Given the description of an element on the screen output the (x, y) to click on. 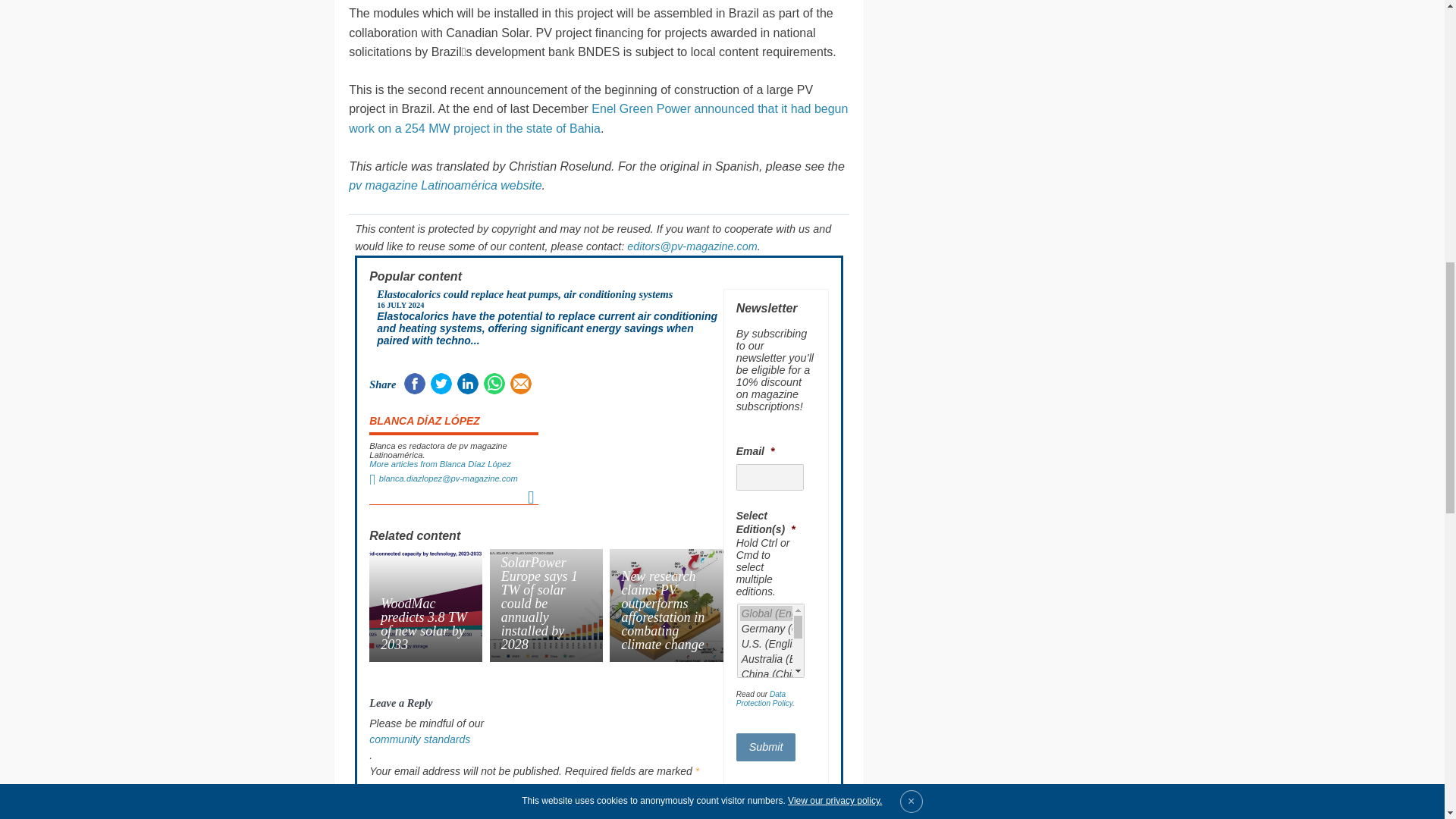
Submit (766, 747)
